Given the description of an element on the screen output the (x, y) to click on. 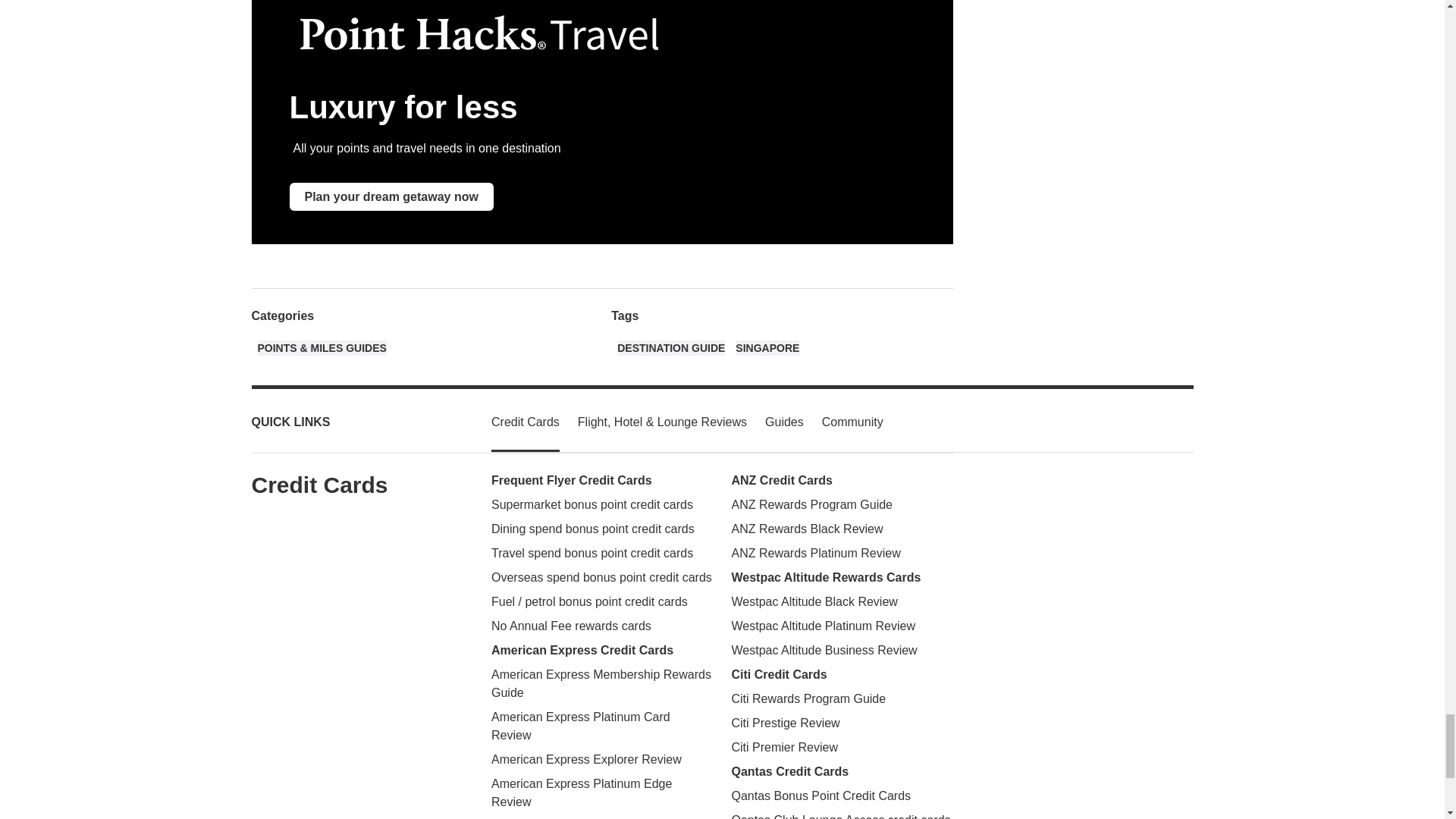
DESTINATION GUIDE (671, 347)
Plan your dream getaway now (391, 196)
SINGAPORE (767, 347)
